Given the description of an element on the screen output the (x, y) to click on. 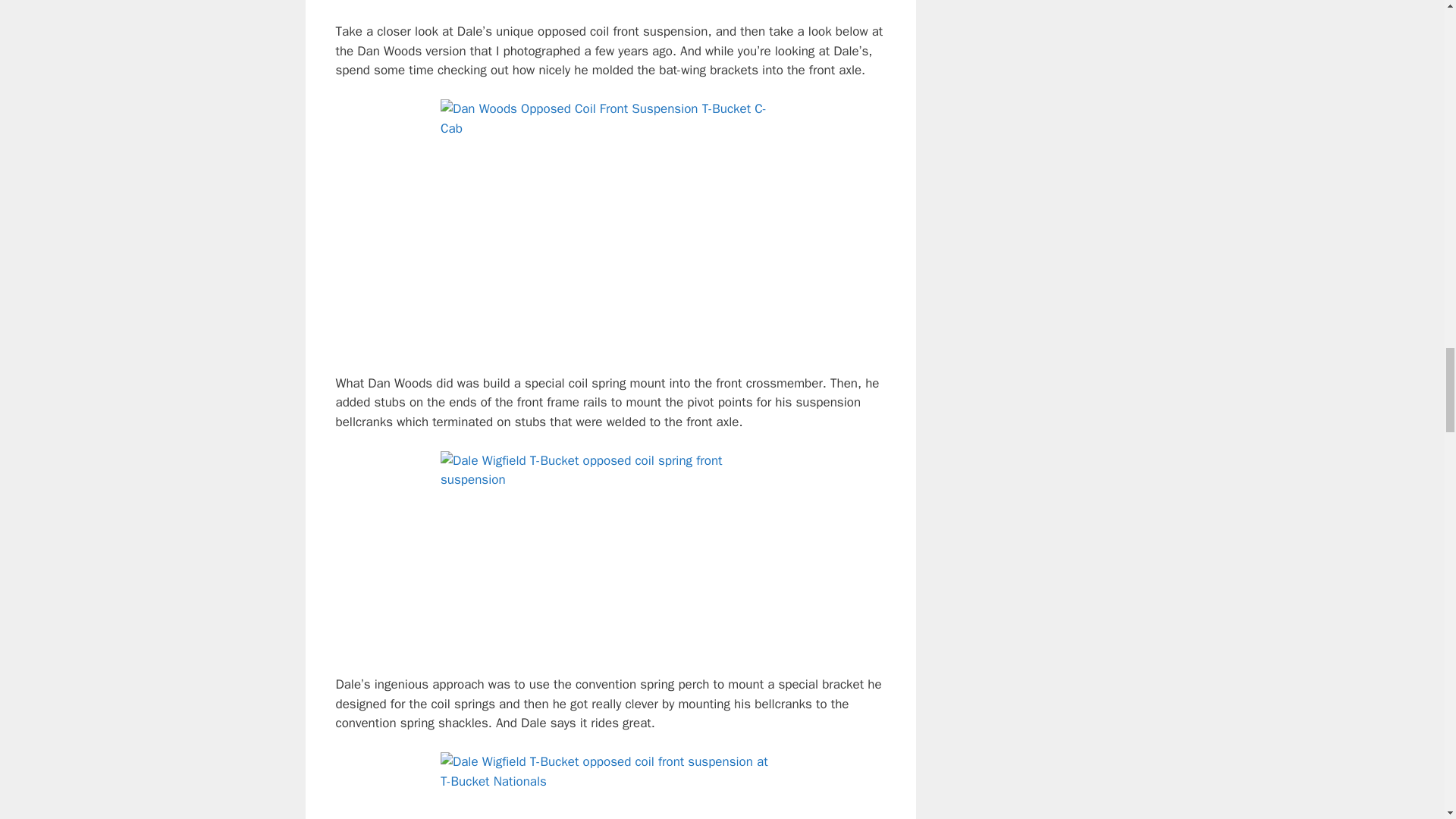
Dale Wigfield T-Bucket 15 (610, 553)
Dan Woods Opposed Coil Front Suspension T-Bucket C-Cab (610, 226)
